Given the description of an element on the screen output the (x, y) to click on. 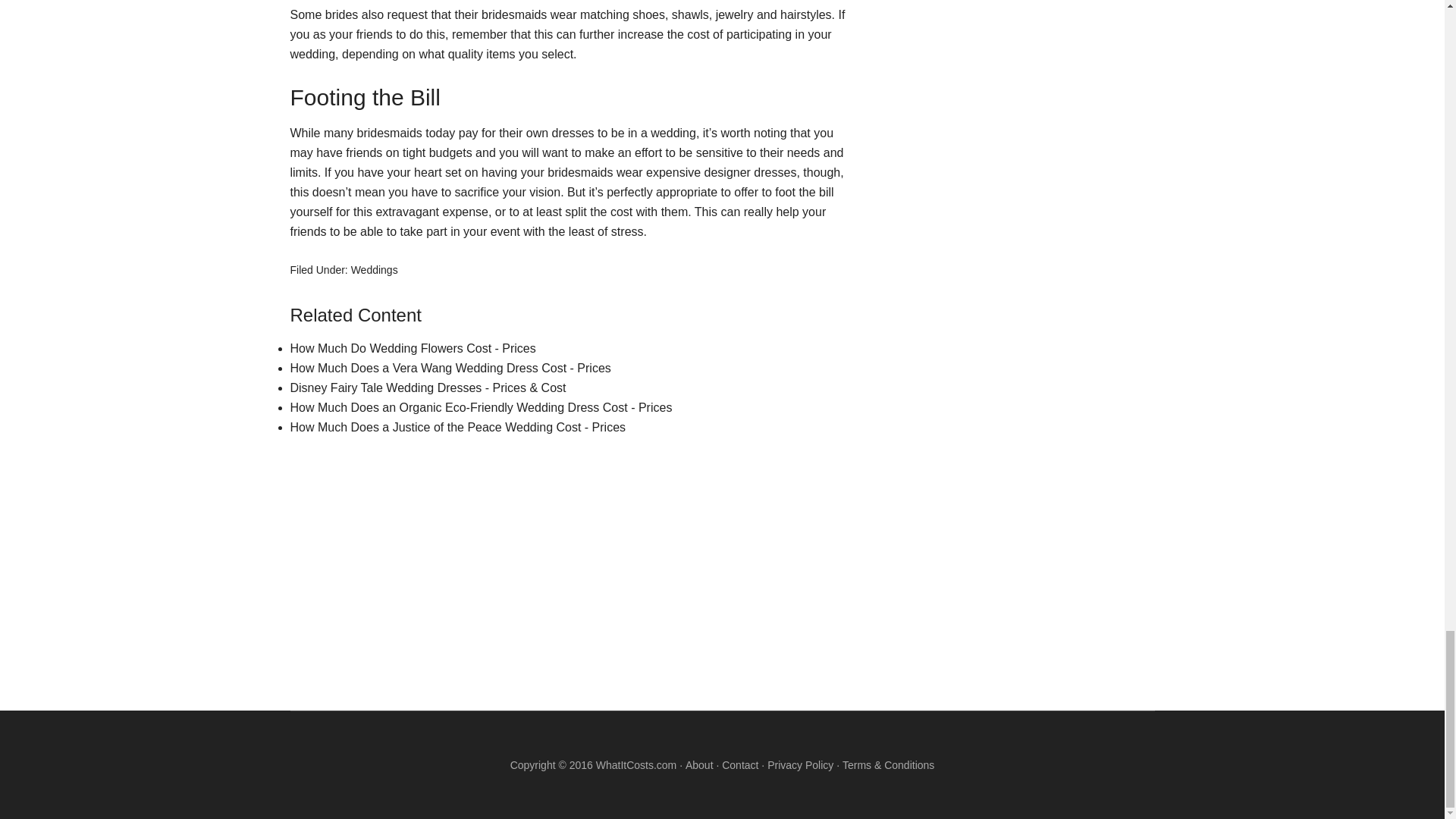
Weddings (373, 269)
Contact (740, 765)
About (699, 765)
How Much Do Wedding Flowers Cost - Prices (412, 348)
How Much Does a Justice of the Peace Wedding Cost - Prices (457, 427)
How Much Does a Vera Wang Wedding Dress Cost - Prices (449, 367)
